Given the description of an element on the screen output the (x, y) to click on. 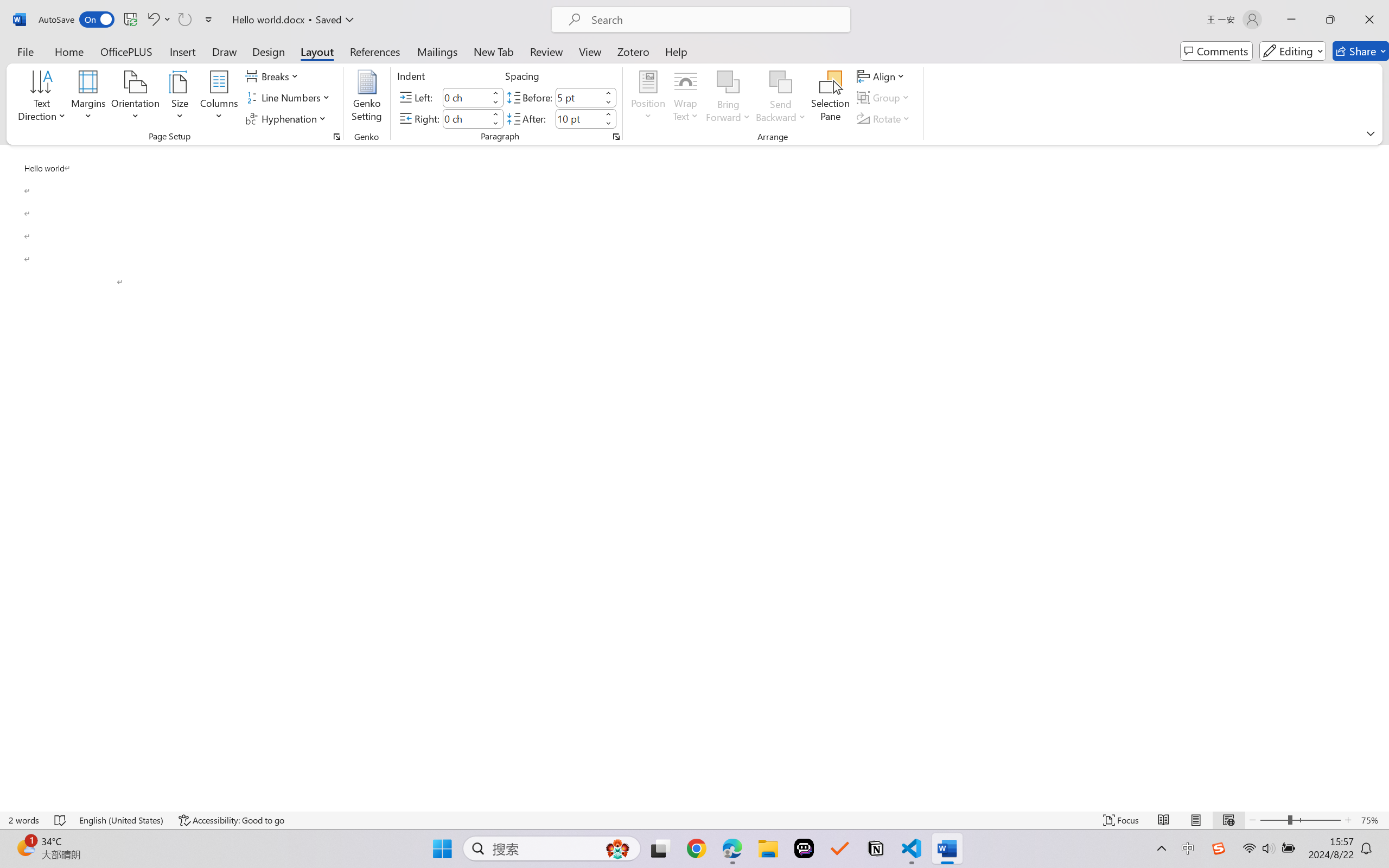
Class: MsoCommandBar (694, 819)
Wrap Text (685, 97)
AutoSave (76, 19)
Bring Forward (728, 97)
Paragraph... (615, 136)
Editing (1292, 50)
Selection Pane... (830, 97)
Zotero (632, 51)
Spacing After (578, 118)
Genko Setting... (367, 97)
Zoom In (1348, 819)
Word Count 2 words (23, 819)
Web Layout (1228, 819)
Size (180, 97)
